Given the description of an element on the screen output the (x, y) to click on. 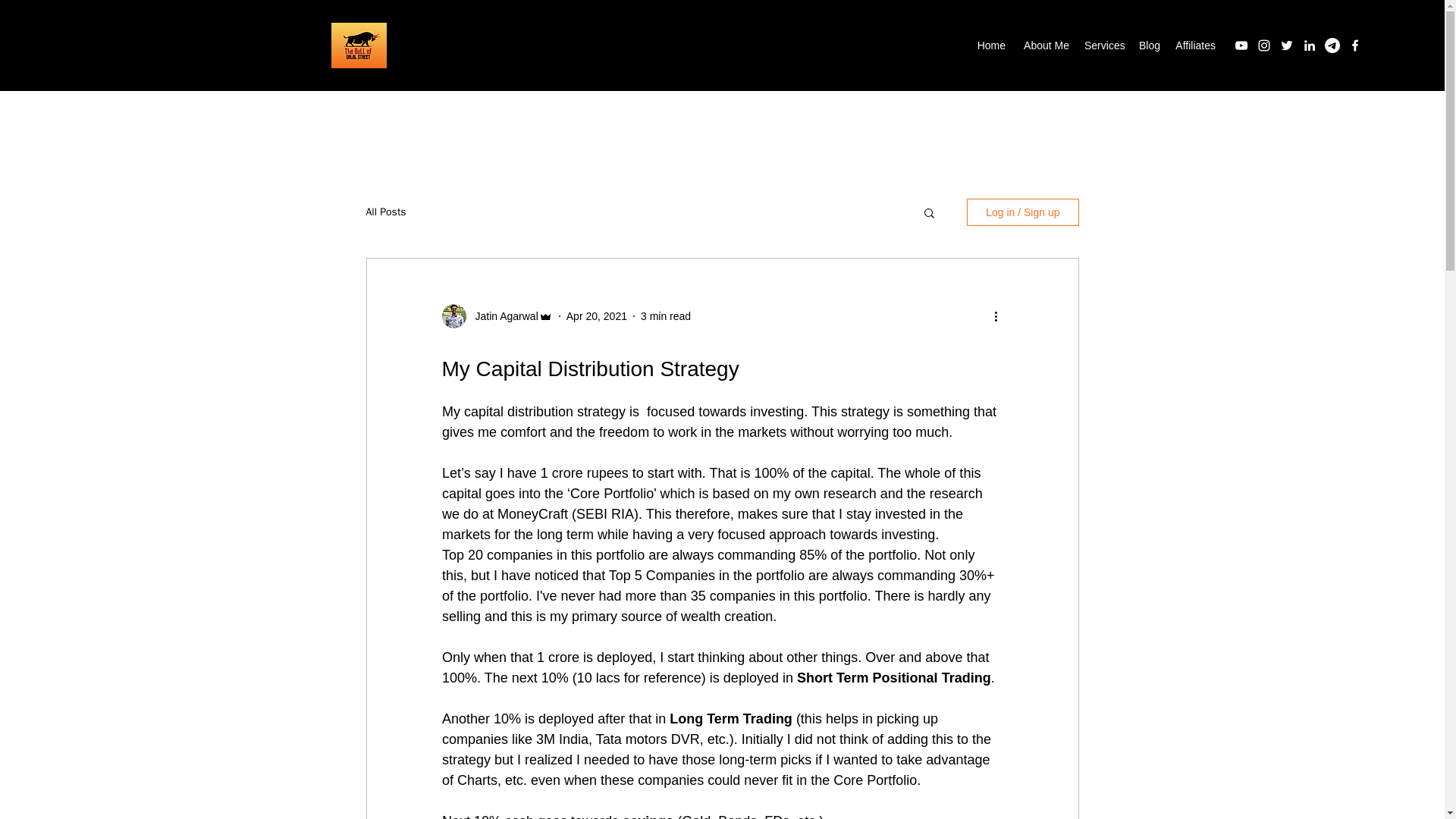
Blog (1149, 45)
Apr 20, 2021 (596, 315)
All Posts (385, 212)
Home (991, 45)
About Me (1045, 45)
Jatin Agarwal (501, 315)
Services (1104, 45)
Affiliates (1195, 45)
3 min read (665, 315)
